Given the description of an element on the screen output the (x, y) to click on. 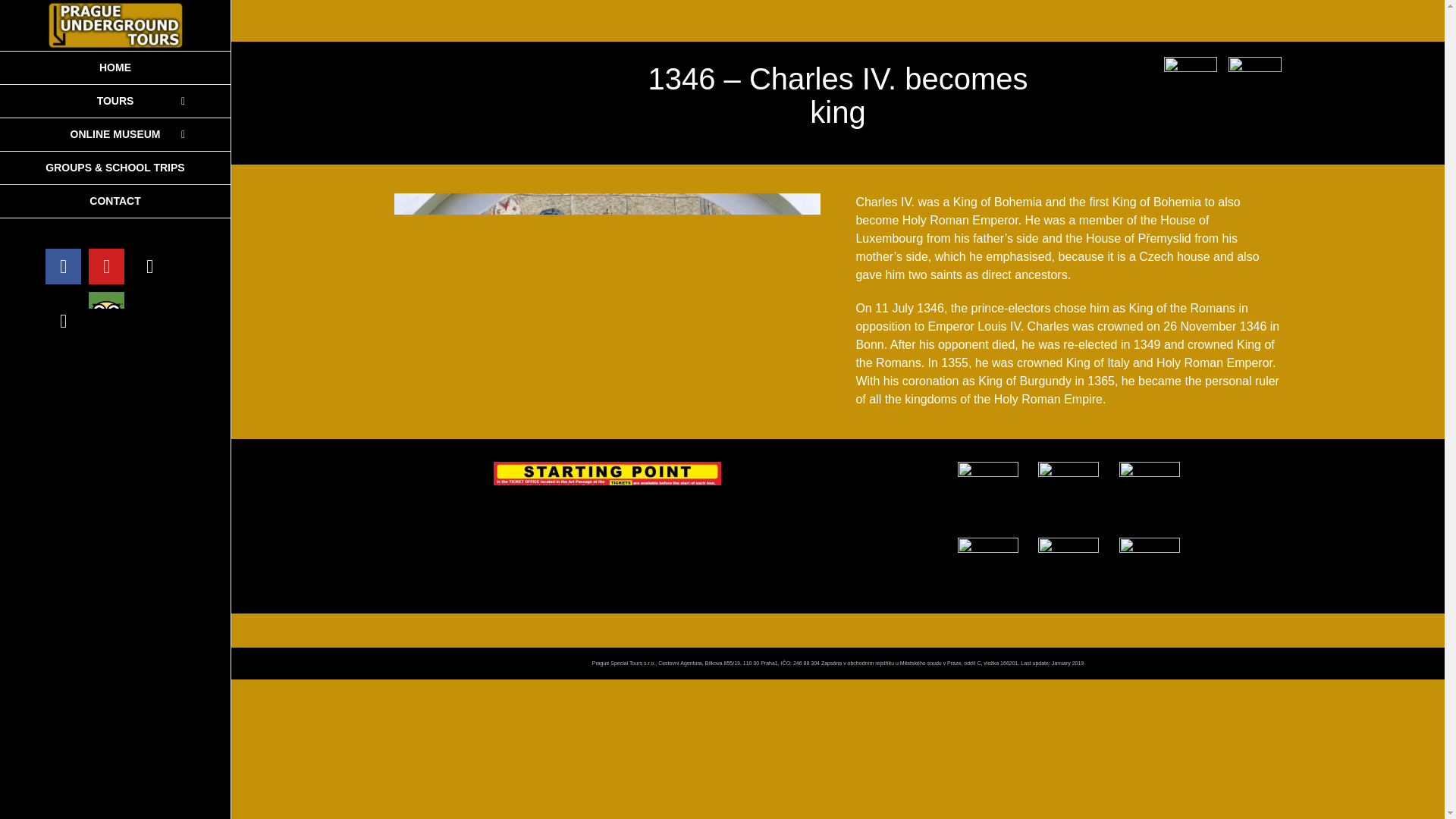
E-mail (63, 321)
ONLINE MUSEUM (115, 134)
YouTube (105, 266)
X (149, 266)
E-mail (63, 321)
Facebook (63, 266)
TOURS (115, 101)
home (115, 67)
Trip Advisor (105, 309)
X (149, 266)
